Given the description of an element on the screen output the (x, y) to click on. 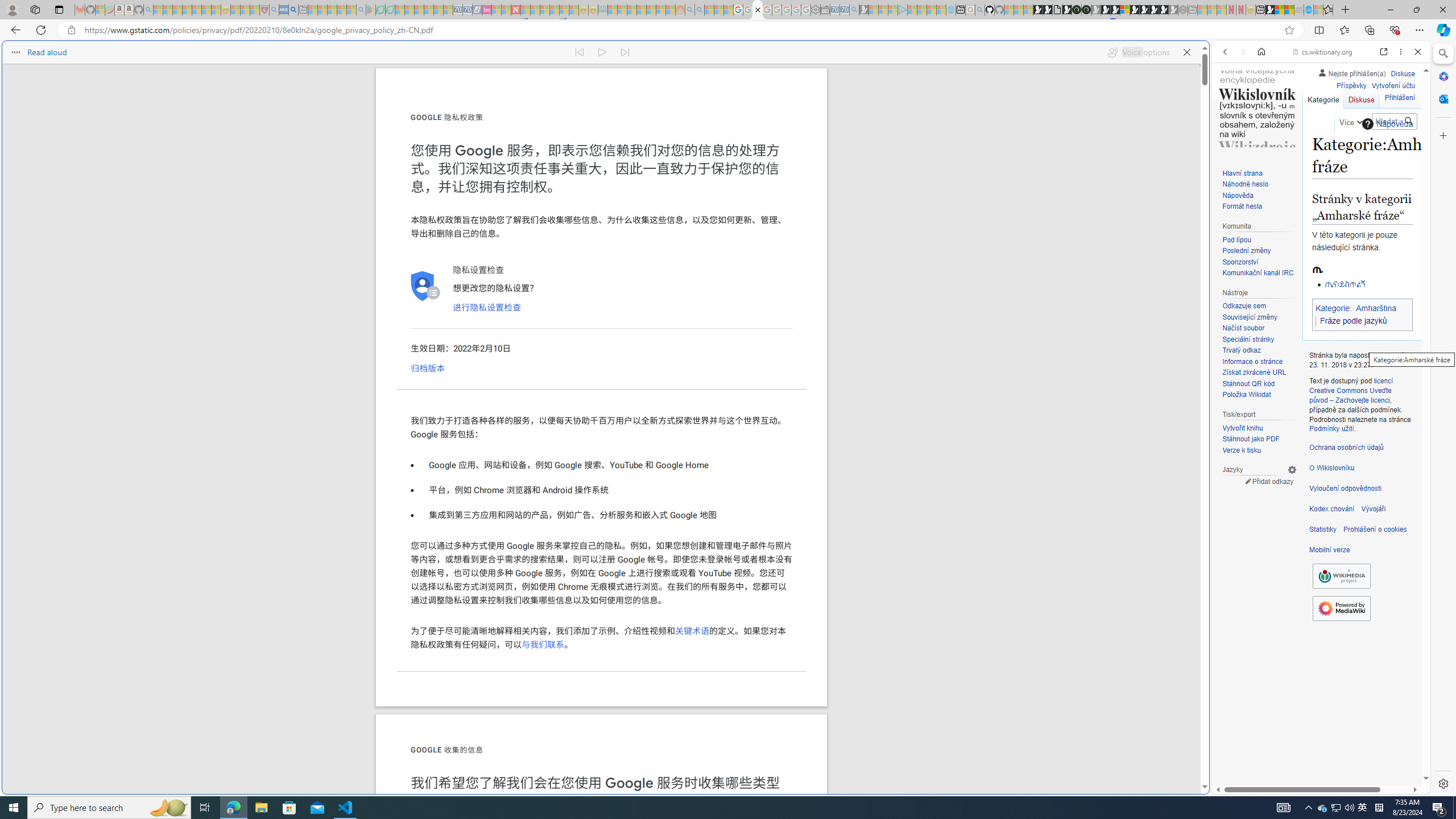
Wikimedia Foundation (1341, 575)
Recipes - MSN - Sleeping (234, 9)
MSNBC - MSN - Sleeping (611, 9)
utah sues federal government - Search (292, 9)
Verze k tisku (1259, 450)
Preferences (1403, 129)
